Given the description of an element on the screen output the (x, y) to click on. 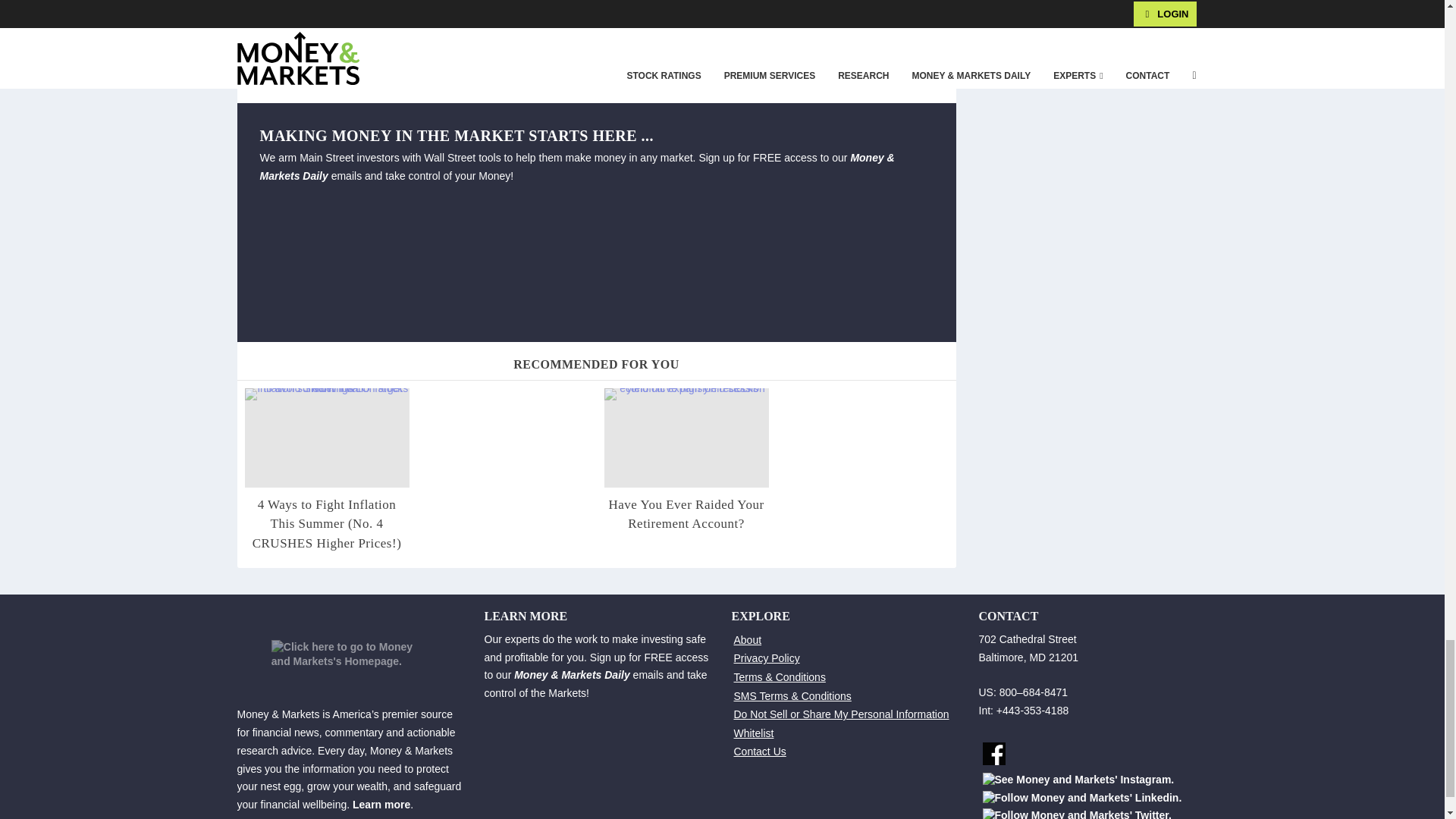
Do Not Sell or Share My Personal Information (841, 714)
Privacy Policy (766, 657)
Whitelist (753, 733)
Have You Ever Raided Your Retirement Account? (685, 514)
Learn more (381, 804)
Have You Ever Raided Your Retirement Account? (686, 437)
Have You Ever Raided Your Retirement Account? (685, 514)
About (747, 639)
